Given the description of an element on the screen output the (x, y) to click on. 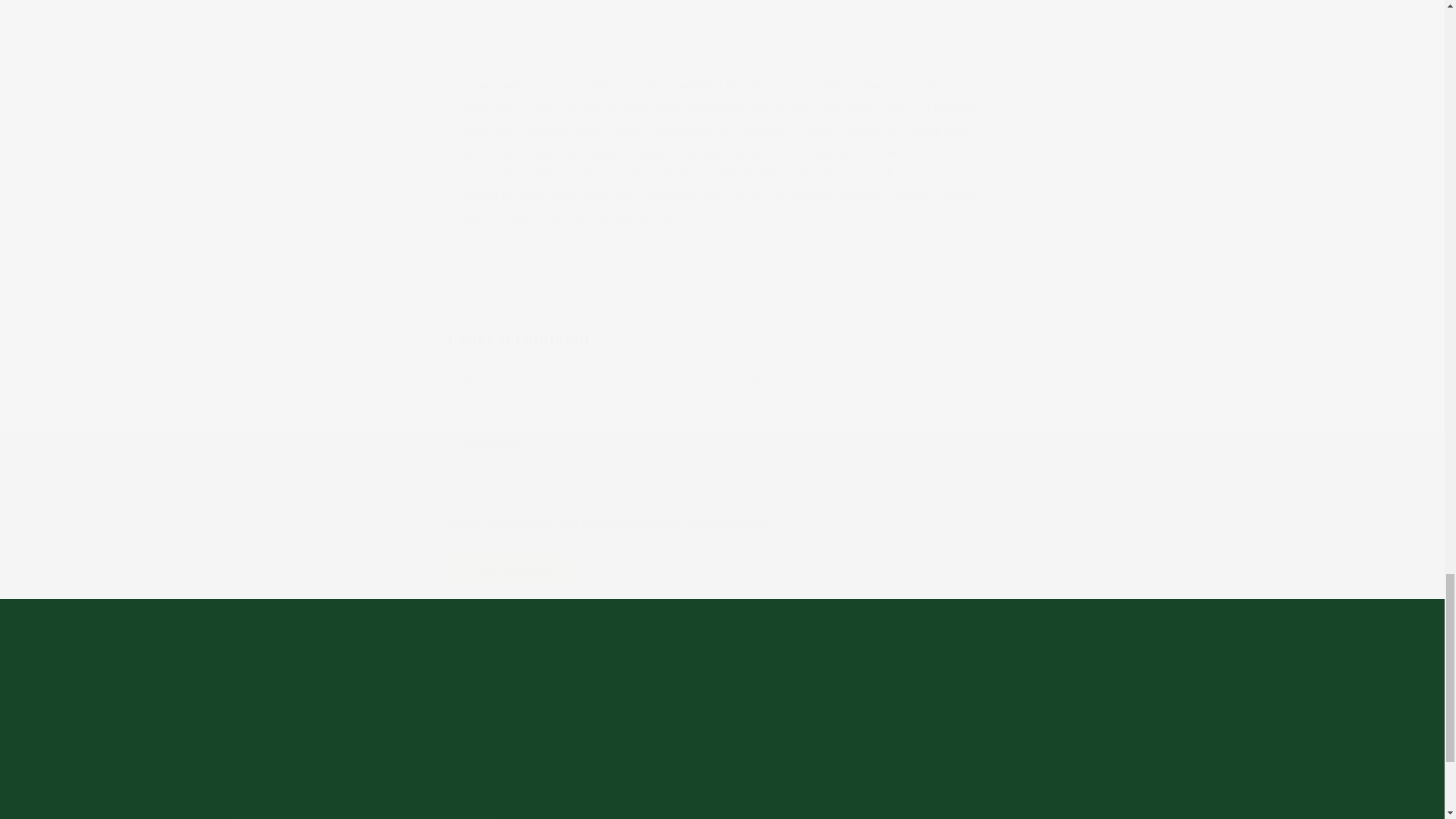
Post comment (1055, 734)
